Given the description of an element on the screen output the (x, y) to click on. 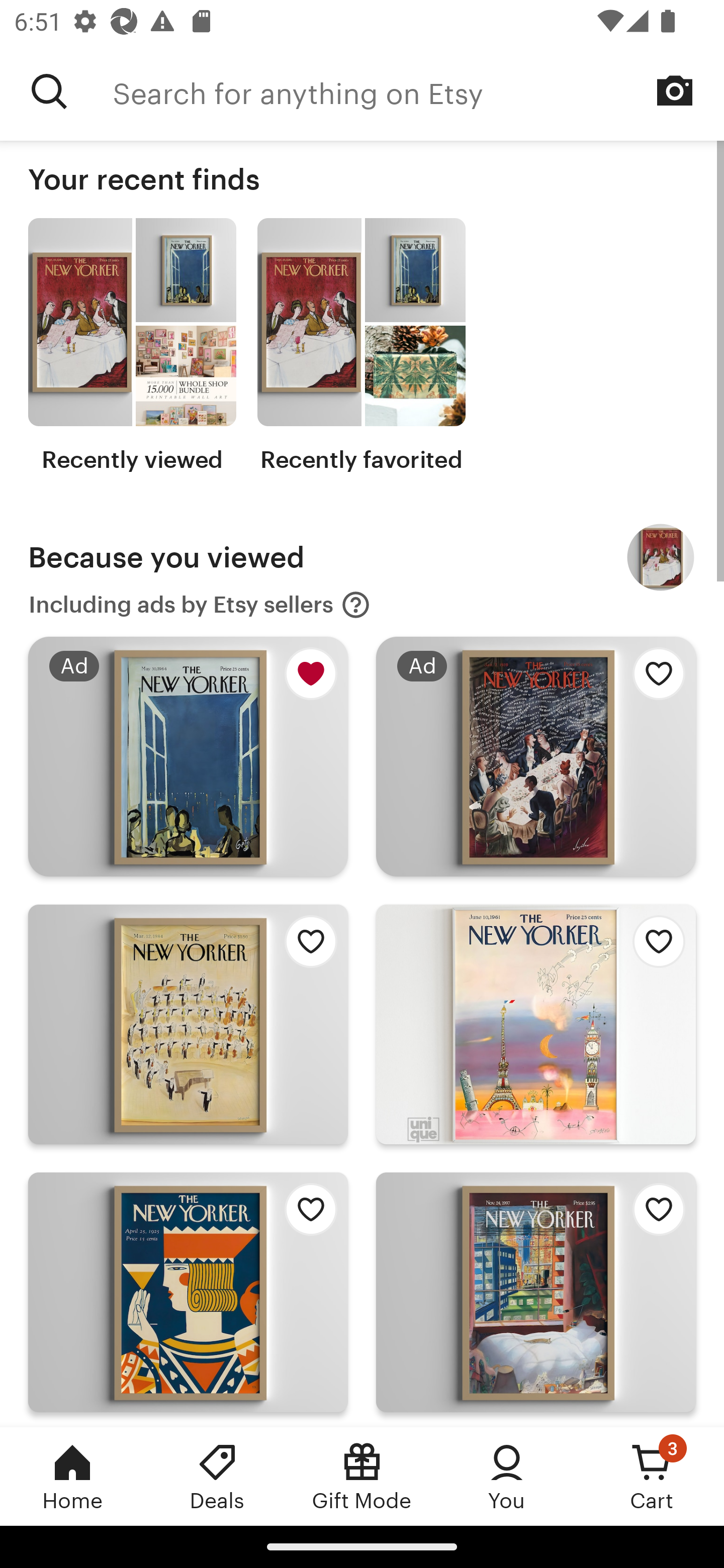
Search for anything on Etsy (49, 91)
Search by image (674, 90)
Search for anything on Etsy (418, 91)
Recently viewed (132, 345)
Recently favorited (361, 345)
Including ads by Etsy sellers (199, 604)
Deals (216, 1475)
Gift Mode (361, 1475)
You (506, 1475)
Cart, 3 new notifications Cart (651, 1475)
